Given the description of an element on the screen output the (x, y) to click on. 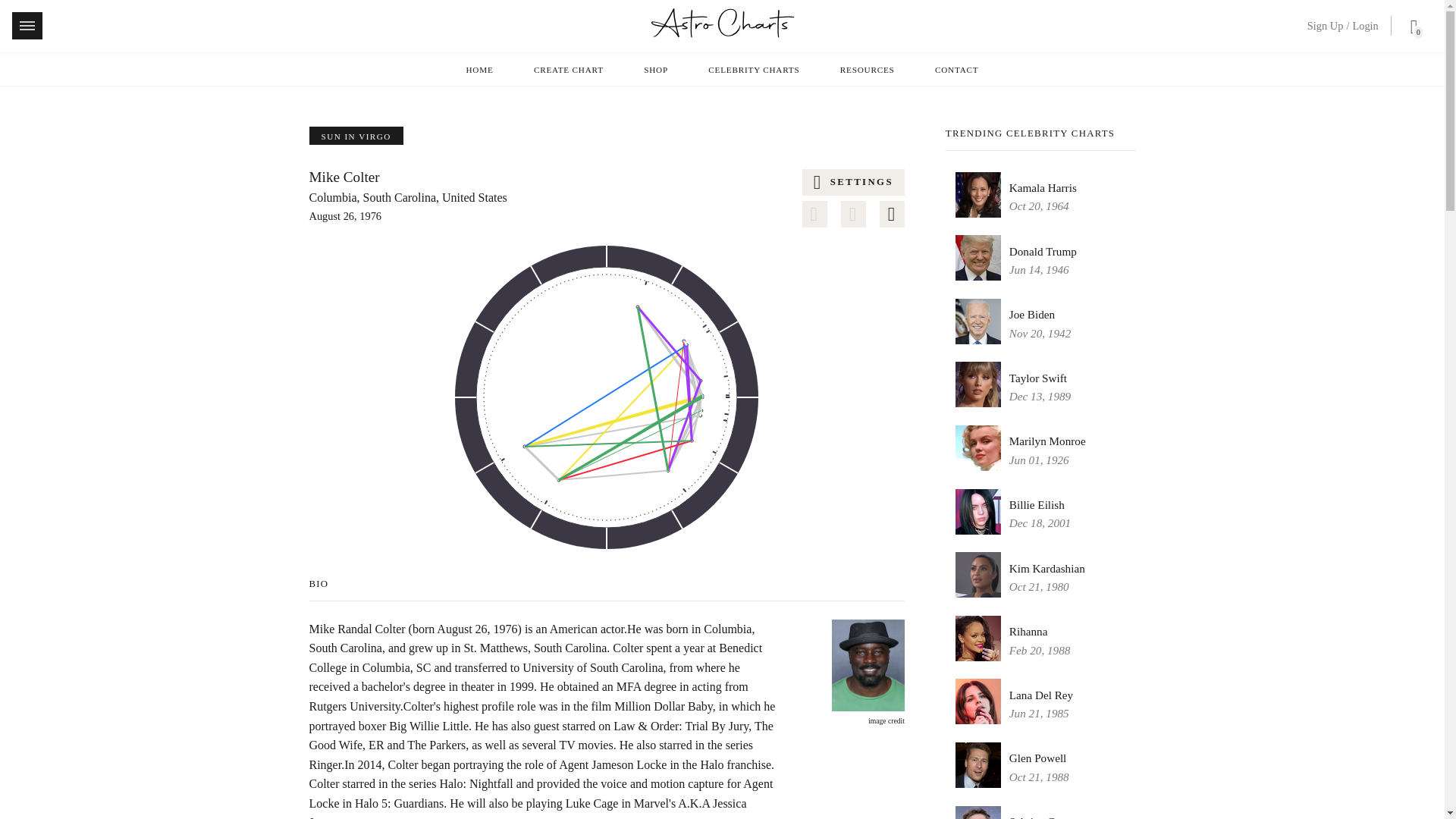
See chart aspect legend (891, 213)
CREATE CHART (569, 69)
HOME (479, 69)
0 (1410, 29)
Login (1364, 25)
See chart settings (853, 181)
Share chart (853, 213)
Sign Up (1325, 25)
Save chart (814, 213)
